Given the description of an element on the screen output the (x, y) to click on. 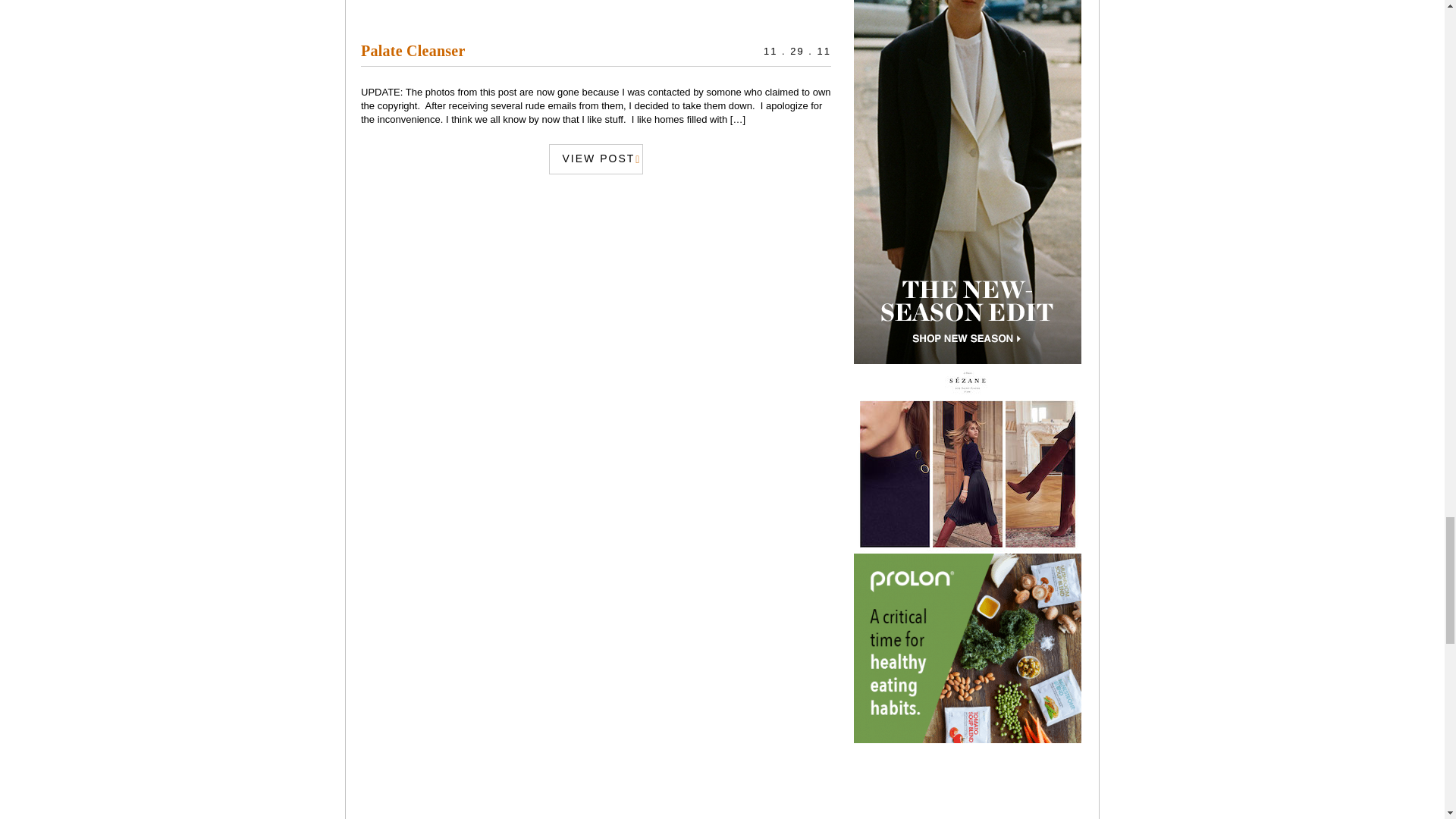
VIEW POST (595, 158)
Palate Cleanser (413, 50)
